Given the description of an element on the screen output the (x, y) to click on. 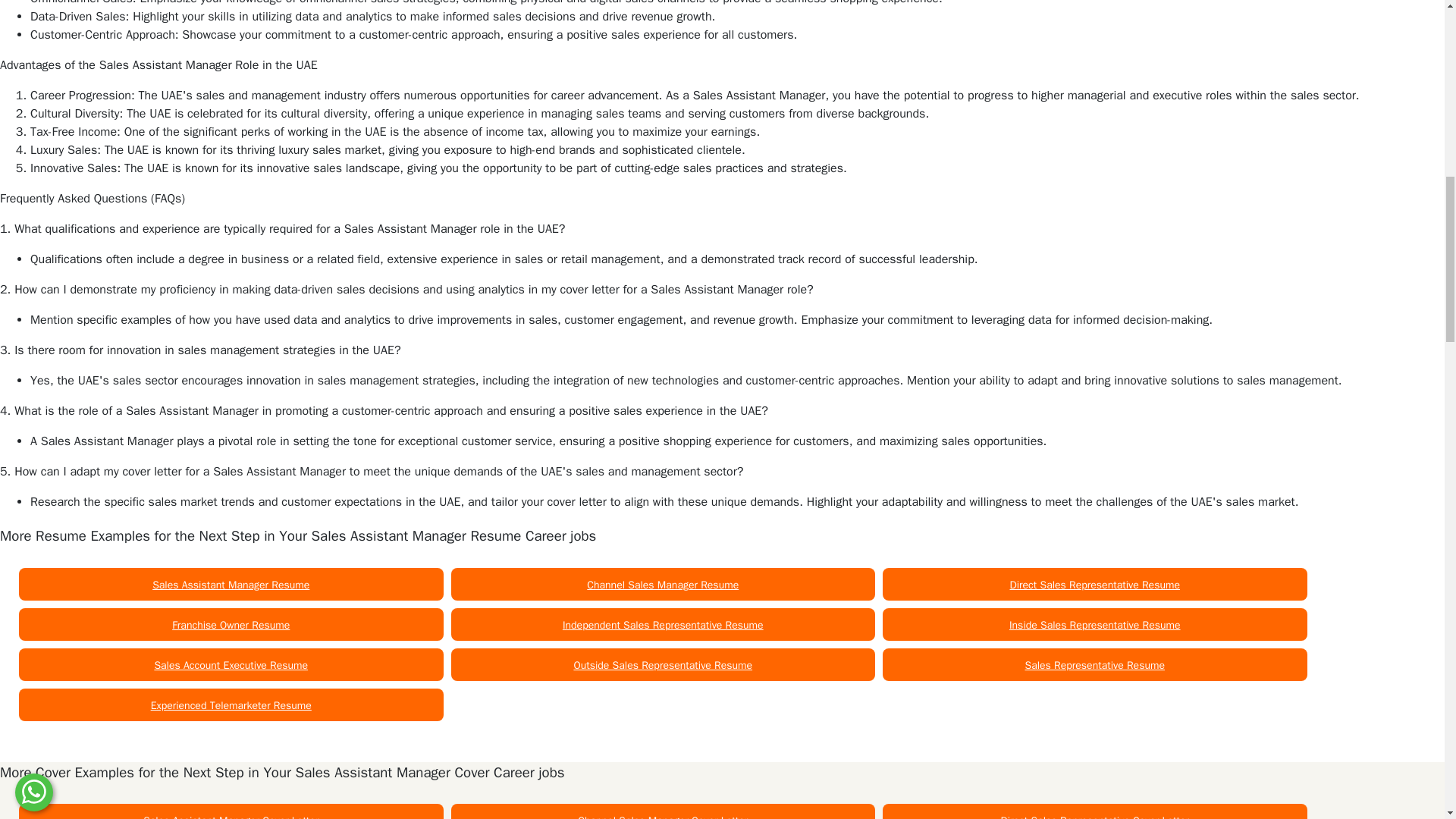
Independent Sales Representative Resume (662, 625)
Channel Sales Manager Resume (662, 584)
Sales Assistant Manager Cover Letter (230, 816)
Outside Sales Representative Resume (662, 665)
Franchise Owner Resume (230, 625)
Inside Sales Representative Resume (1094, 625)
click to open whatsapp chat (33, 5)
Direct Sales Representative Cover Letter (1094, 816)
Direct Sales Representative Resume (1095, 584)
Experienced Telemarketer Resume (231, 705)
Sales Account Executive Resume (230, 665)
Sales Representative Resume (1094, 665)
Channel Sales Manager Cover Letter (663, 816)
Sales Assistant Manager Resume (230, 584)
